Given the description of an element on the screen output the (x, y) to click on. 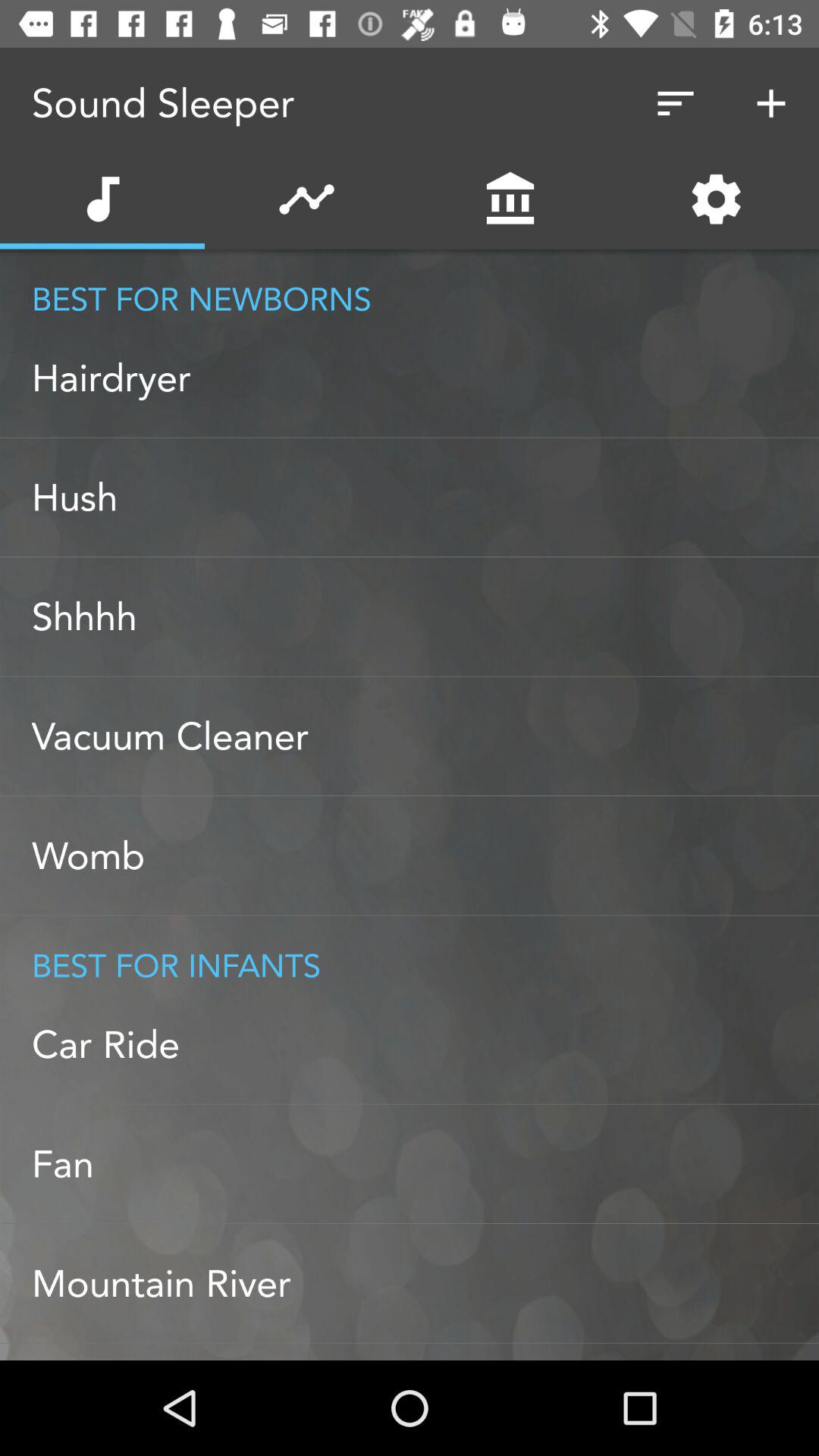
scroll until the car ride icon (425, 1044)
